Given the description of an element on the screen output the (x, y) to click on. 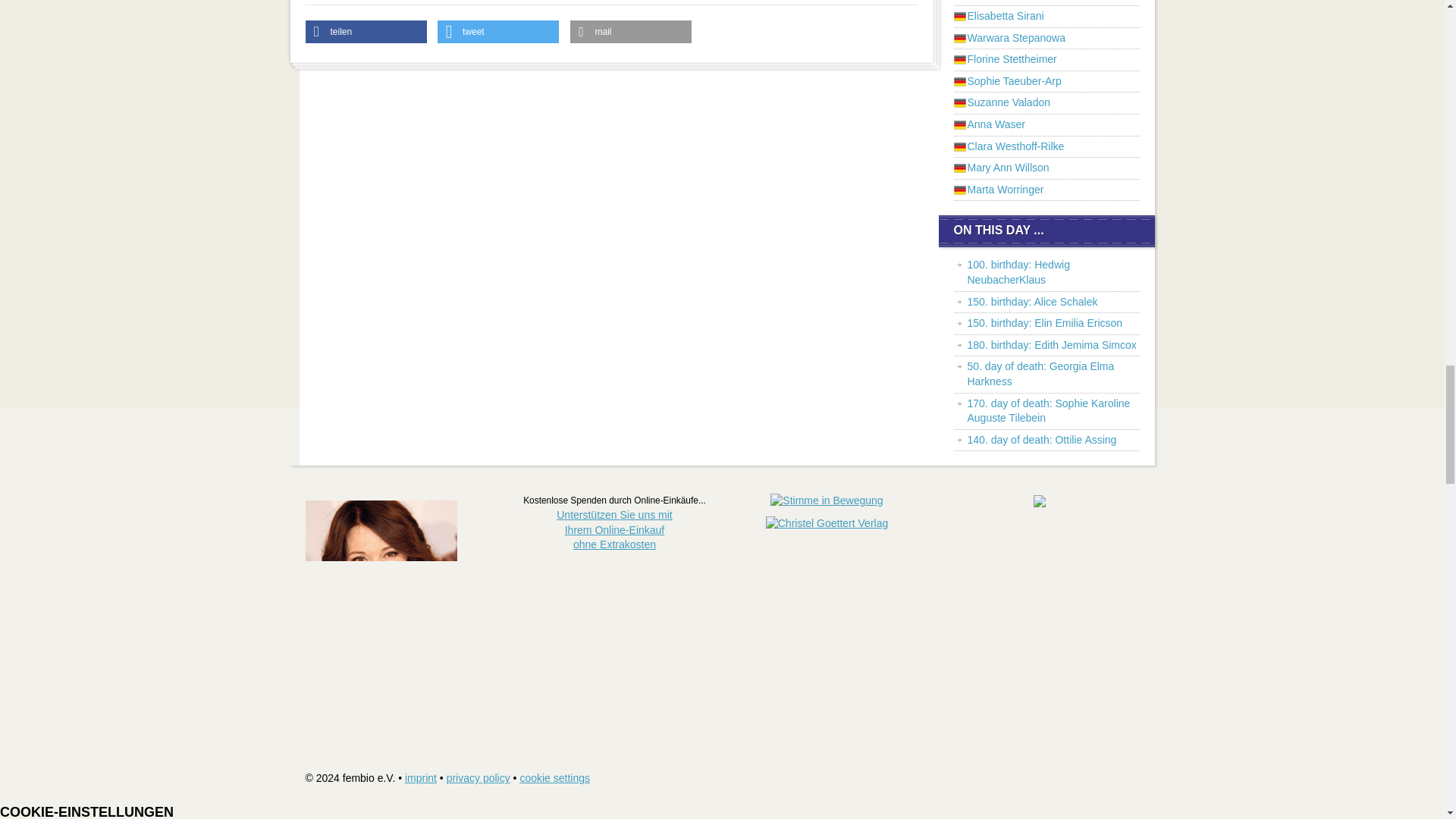
Bei Facebook teilen (365, 31)
Per E-Mail versenden (630, 31)
mail (630, 31)
Bei Twitter teilen (498, 31)
tweet (498, 31)
teilen (365, 31)
